Given the description of an element on the screen output the (x, y) to click on. 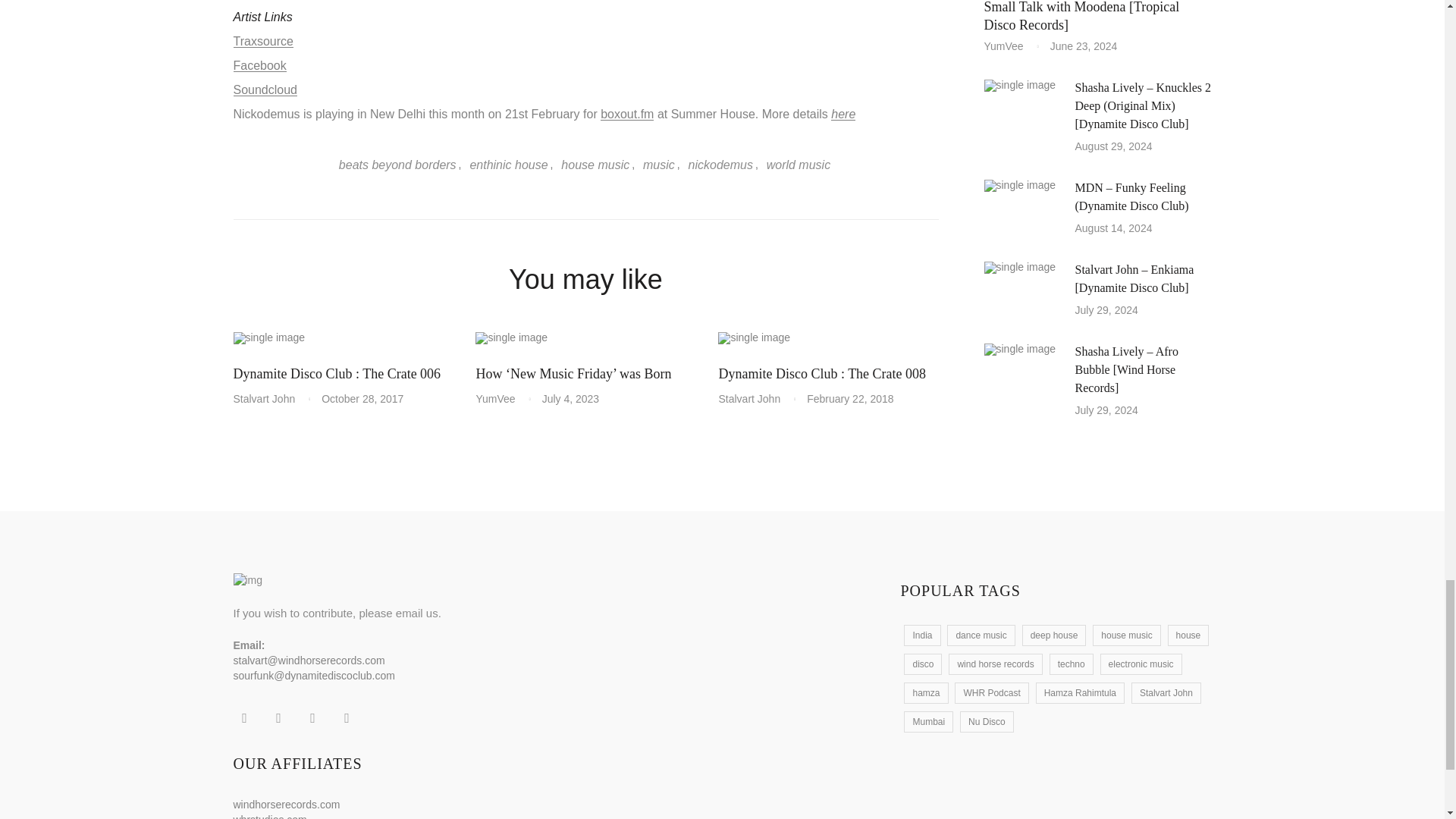
Traxsource (263, 41)
here (843, 113)
music (657, 165)
Soundcloud (265, 89)
October 28, 2017 (362, 398)
house music (593, 165)
YumVee (500, 398)
beats beyond borders (398, 165)
Facebook (259, 65)
Dynamite Disco Club : The Crate 006 (336, 373)
